Given the description of an element on the screen output the (x, y) to click on. 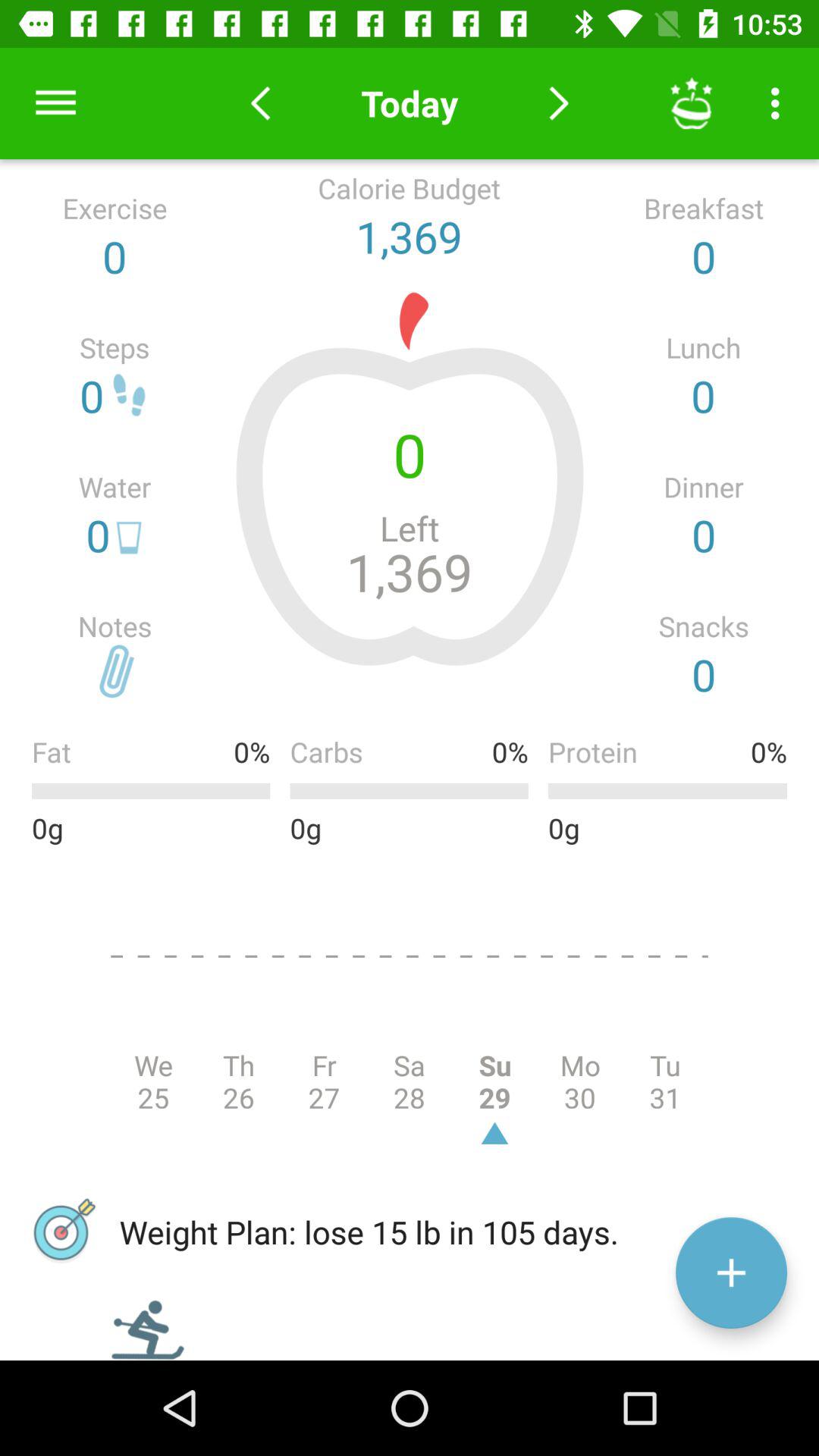
add weight loss info (731, 1272)
